Given the description of an element on the screen output the (x, y) to click on. 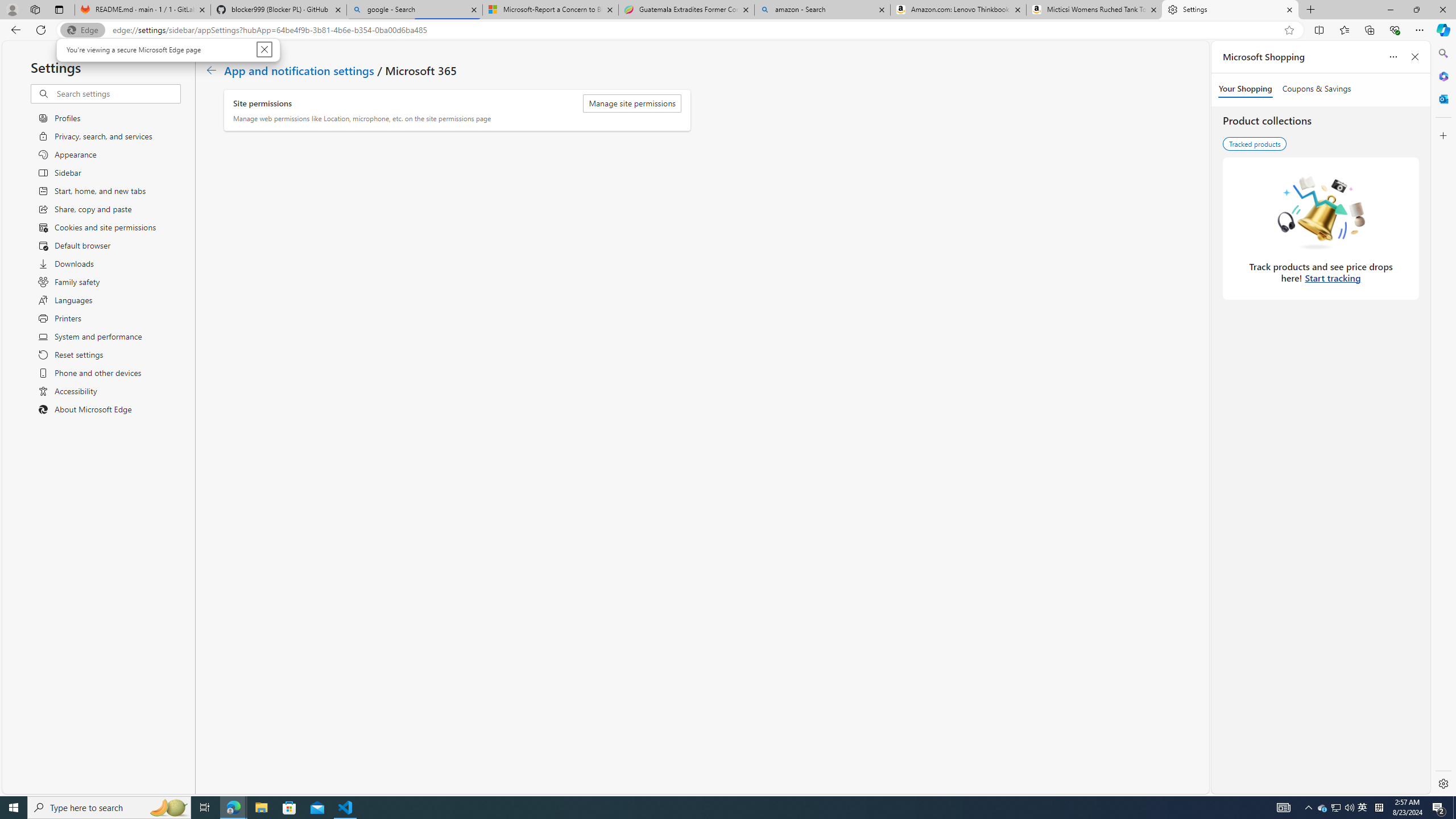
amazon - Search (822, 9)
Tray Input Indicator - Chinese (Simplified, China) (1378, 807)
